Given the description of an element on the screen output the (x, y) to click on. 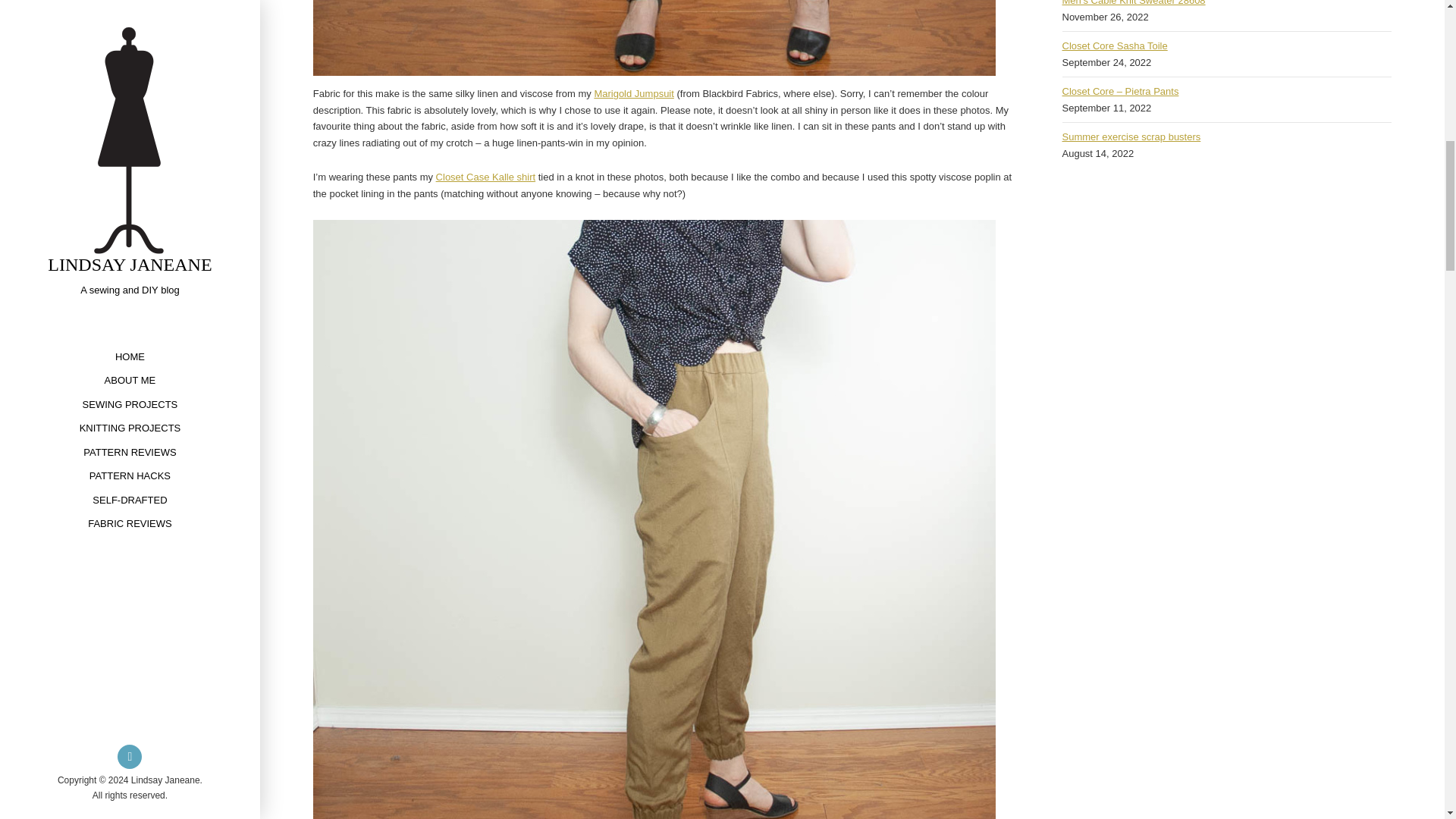
Marigold Jumpsuit (634, 93)
Closet Core Sasha Toile (1114, 45)
Summer exercise scrap busters (1130, 136)
Closet Case Kalle shirt (485, 176)
